Given the description of an element on the screen output the (x, y) to click on. 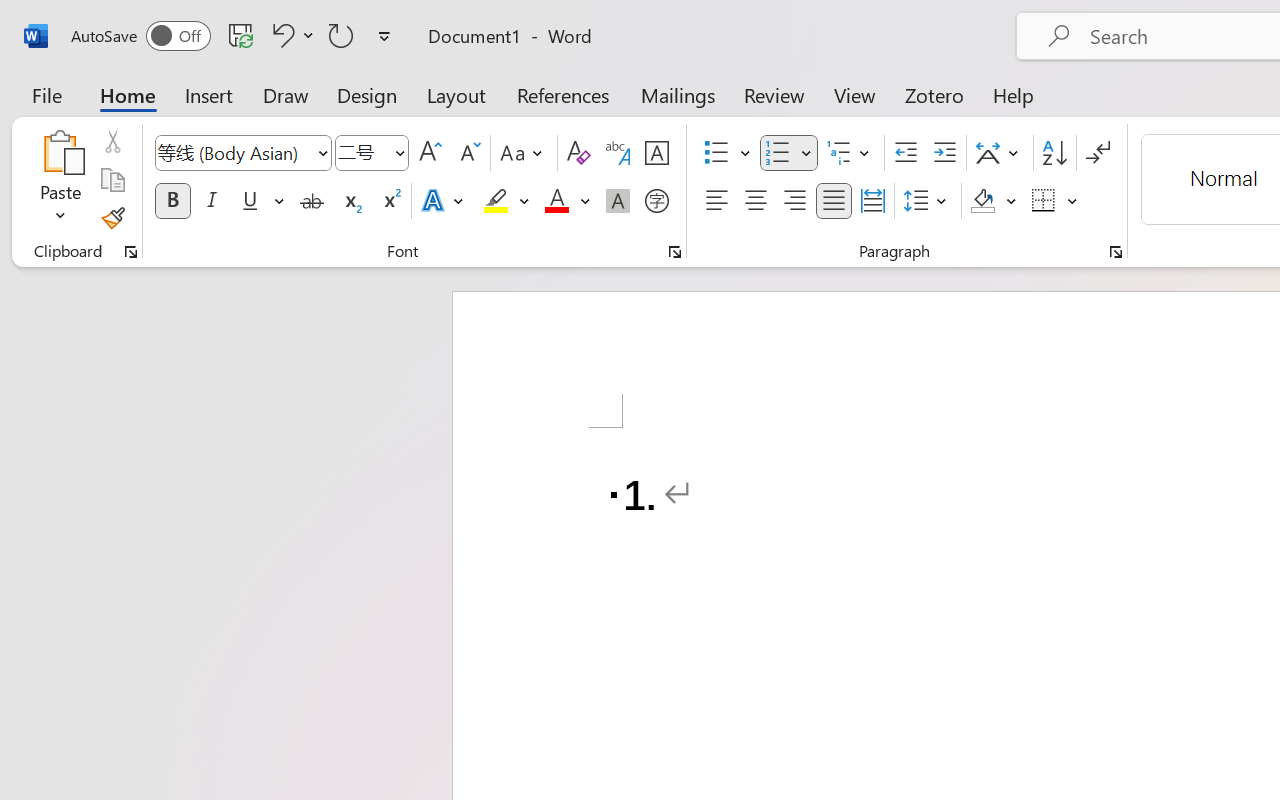
Repeat Doc Close (341, 35)
